Given the description of an element on the screen output the (x, y) to click on. 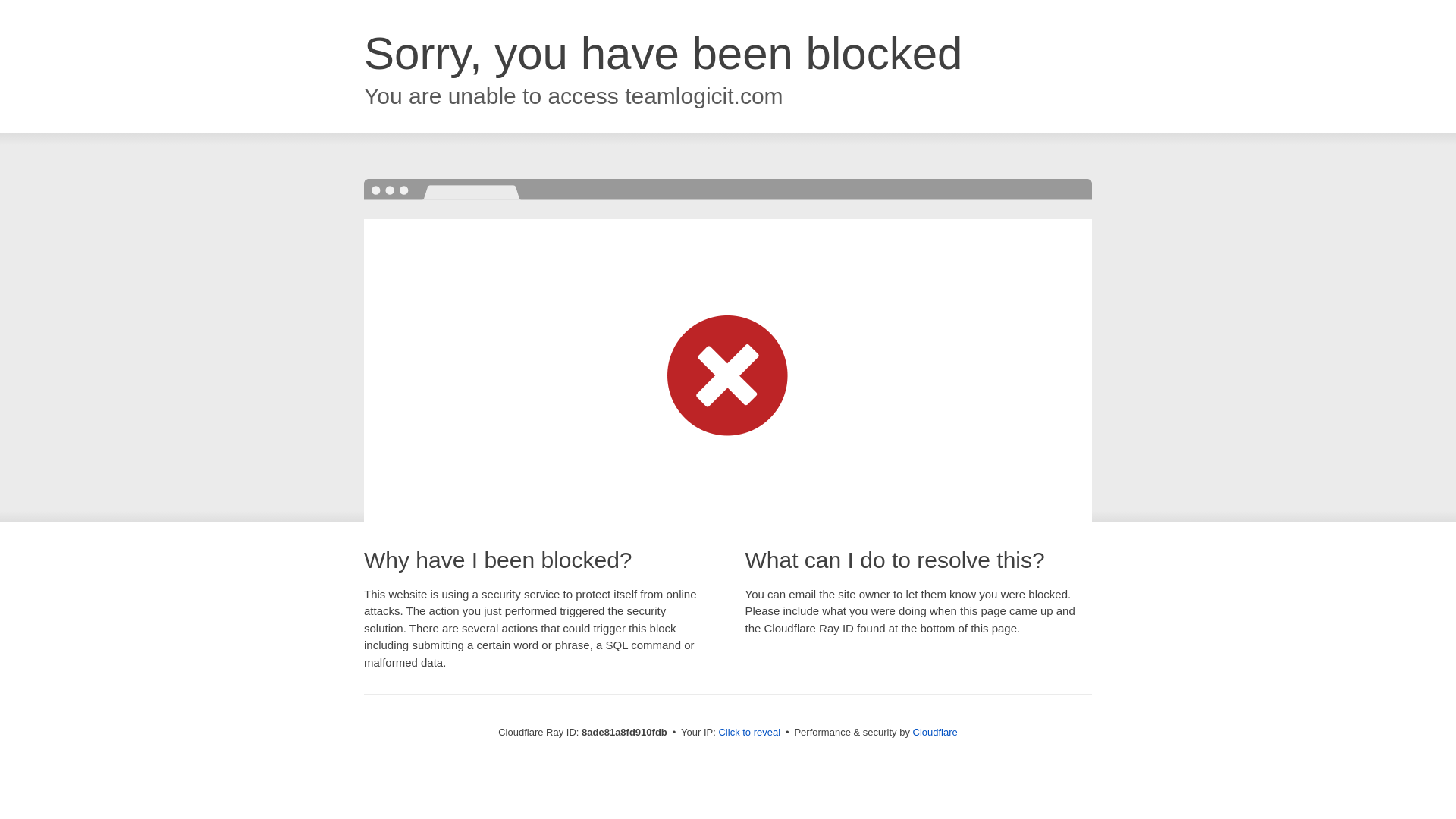
Click to reveal (748, 732)
Cloudflare (935, 731)
